Given the description of an element on the screen output the (x, y) to click on. 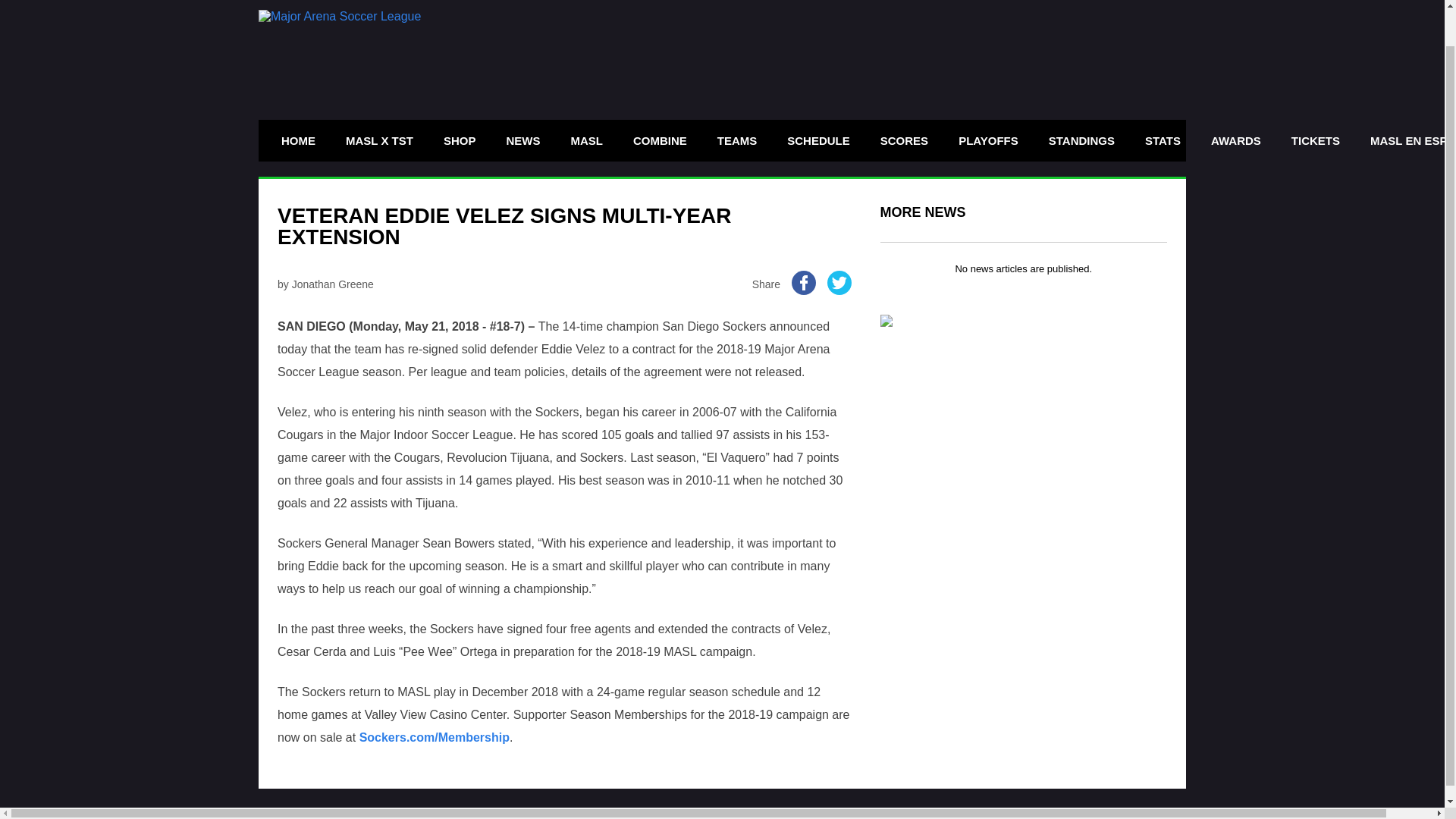
COMBINE (659, 140)
SHOP (459, 140)
MASL X TST (379, 140)
SCHEDULE (818, 140)
PLAYOFFS (988, 140)
TEAMS (737, 140)
STANDINGS (1080, 140)
SCORES (904, 140)
HOME (297, 140)
